Given the description of an element on the screen output the (x, y) to click on. 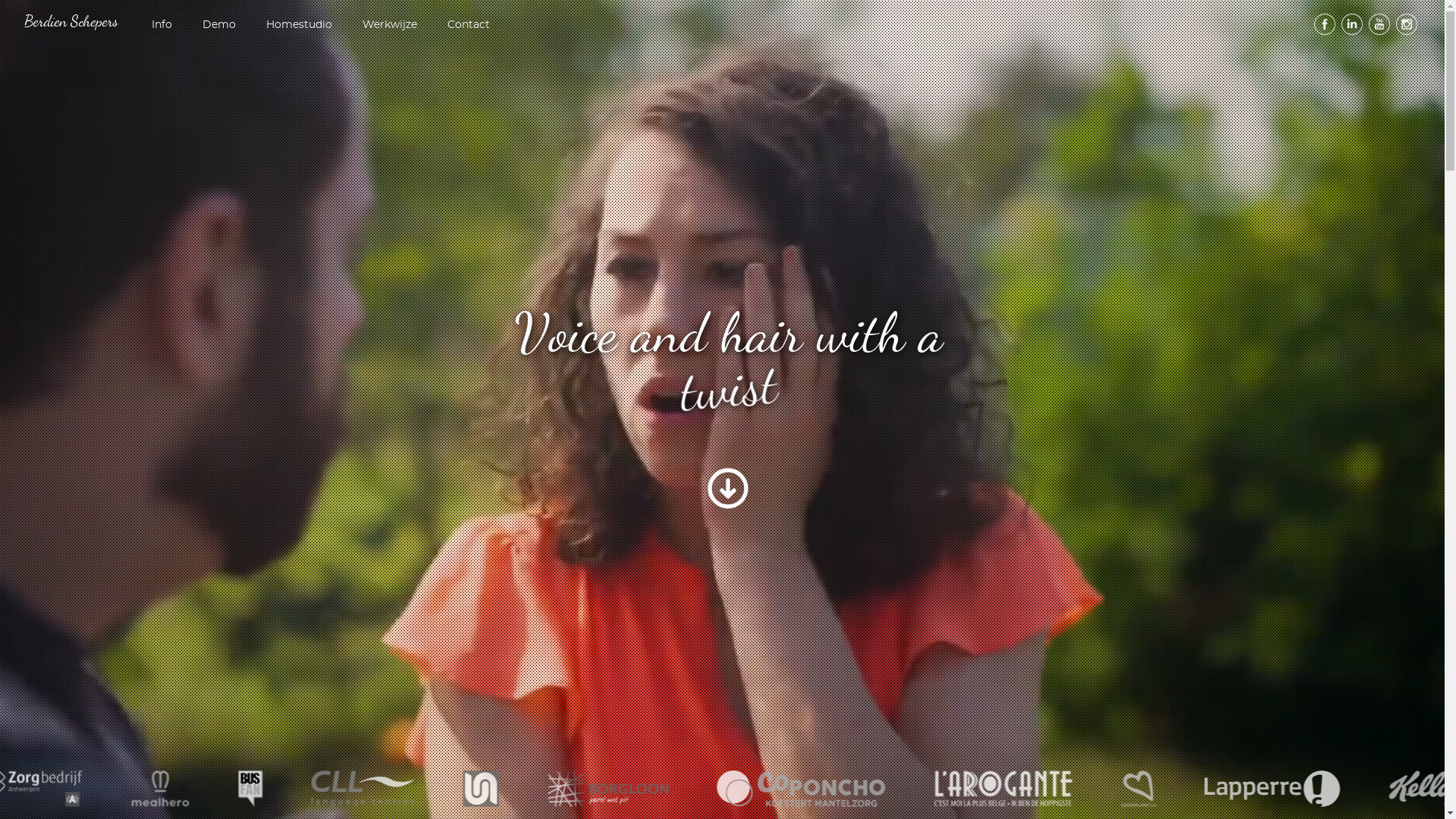
Contact Element type: text (468, 24)
Info Element type: text (161, 24)
Demo Element type: text (218, 24)
Homestudio Element type: text (299, 24)
Werkwijze Element type: text (389, 24)
